Given the description of an element on the screen output the (x, y) to click on. 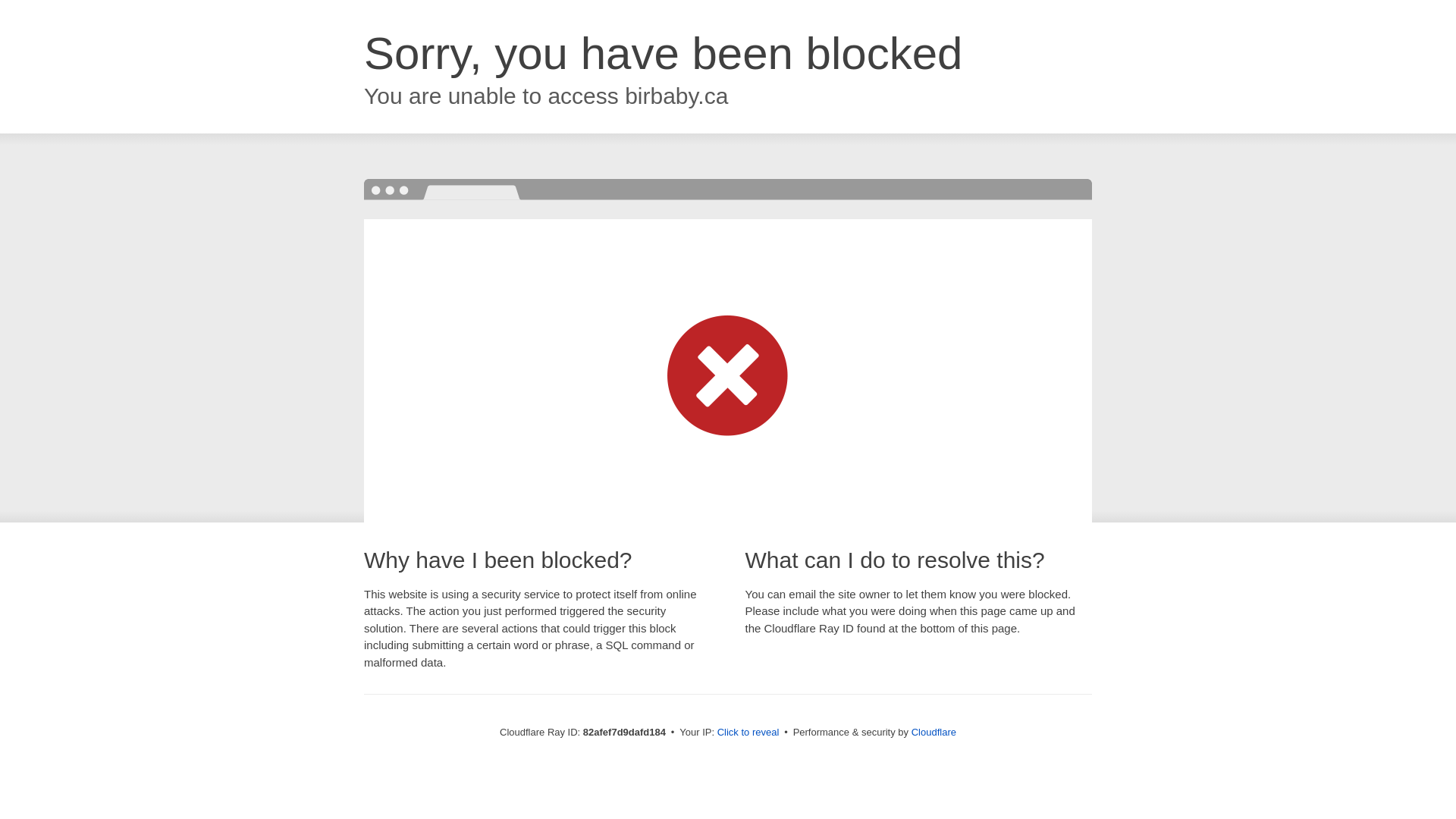
Click to reveal Element type: text (748, 732)
Cloudflare Element type: text (933, 731)
